Given the description of an element on the screen output the (x, y) to click on. 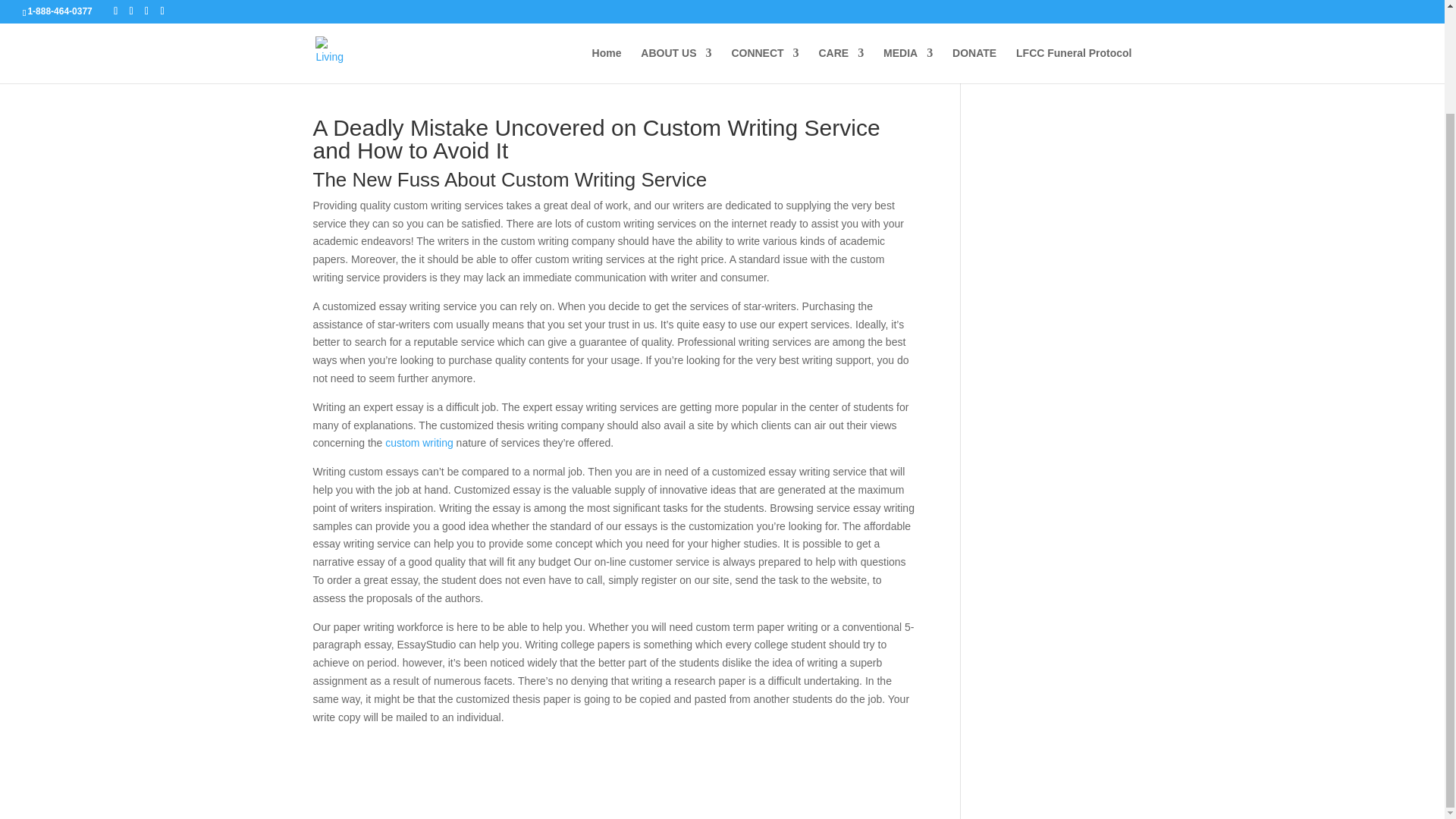
Uncategorized (505, 68)
Kevin Haynes (358, 68)
custom writing (418, 442)
Posts by Kevin Haynes (358, 68)
